Given the description of an element on the screen output the (x, y) to click on. 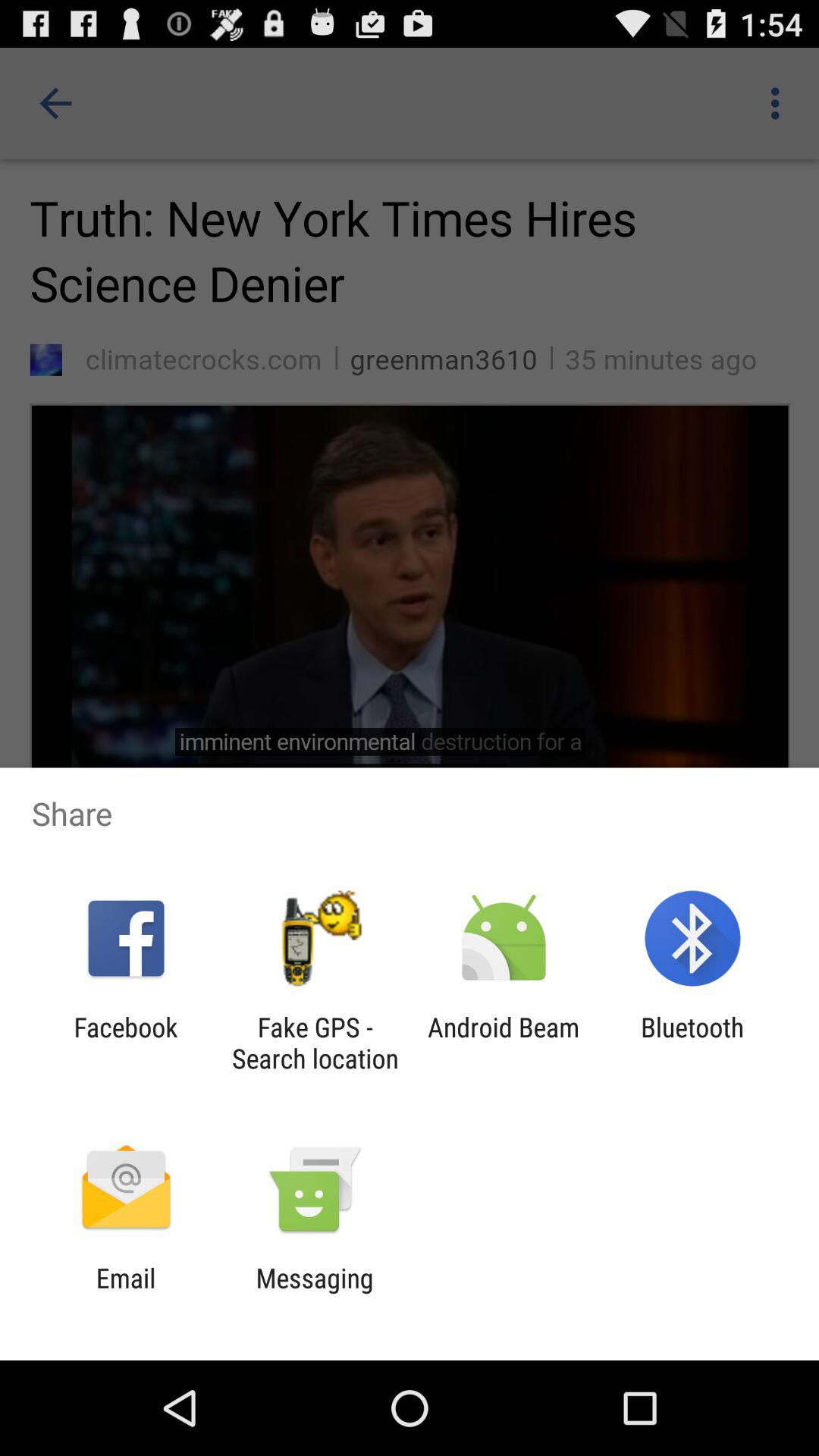
tap the app next to messaging (125, 1293)
